Given the description of an element on the screen output the (x, y) to click on. 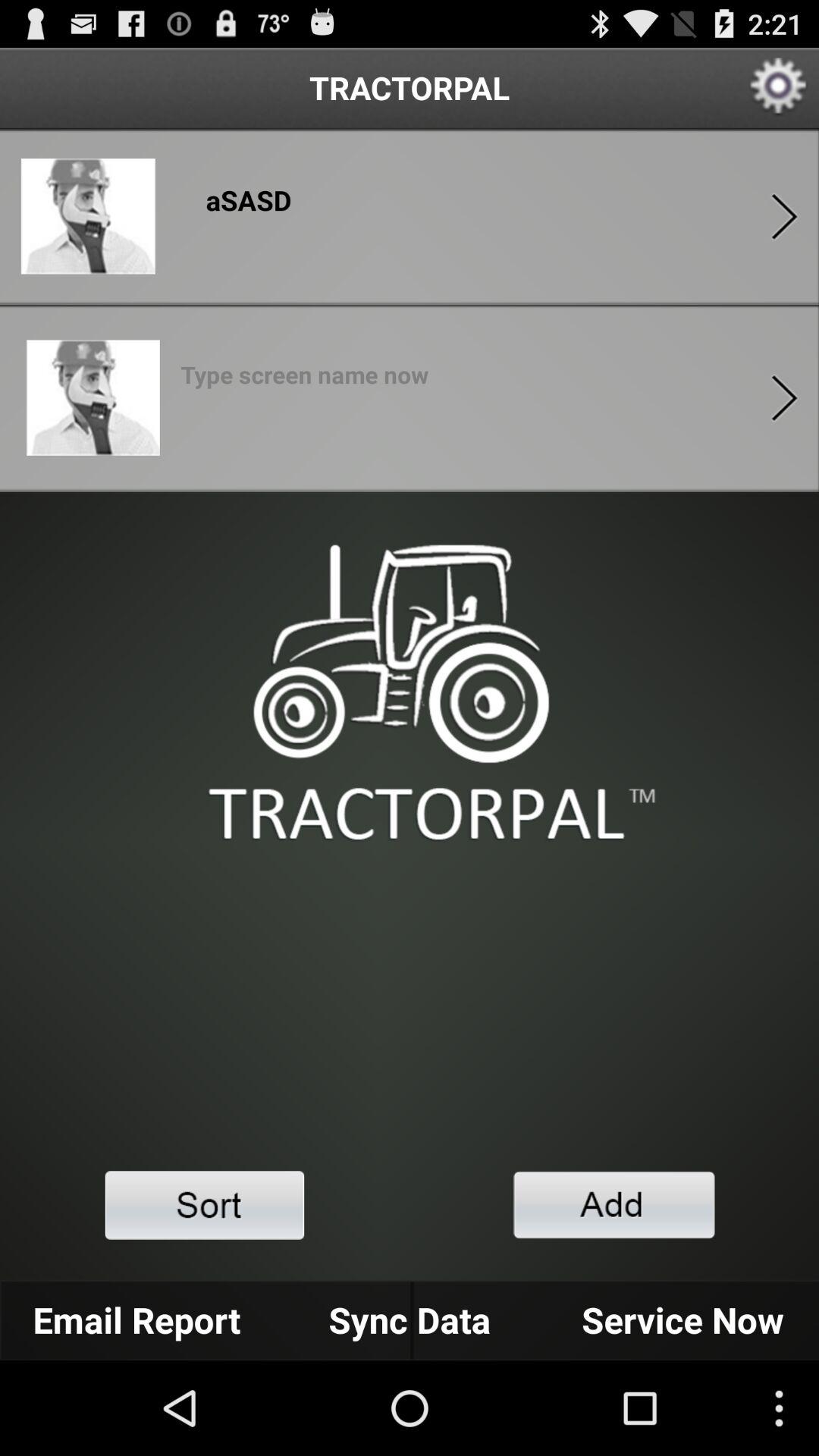
type a name (304, 379)
